Given the description of an element on the screen output the (x, y) to click on. 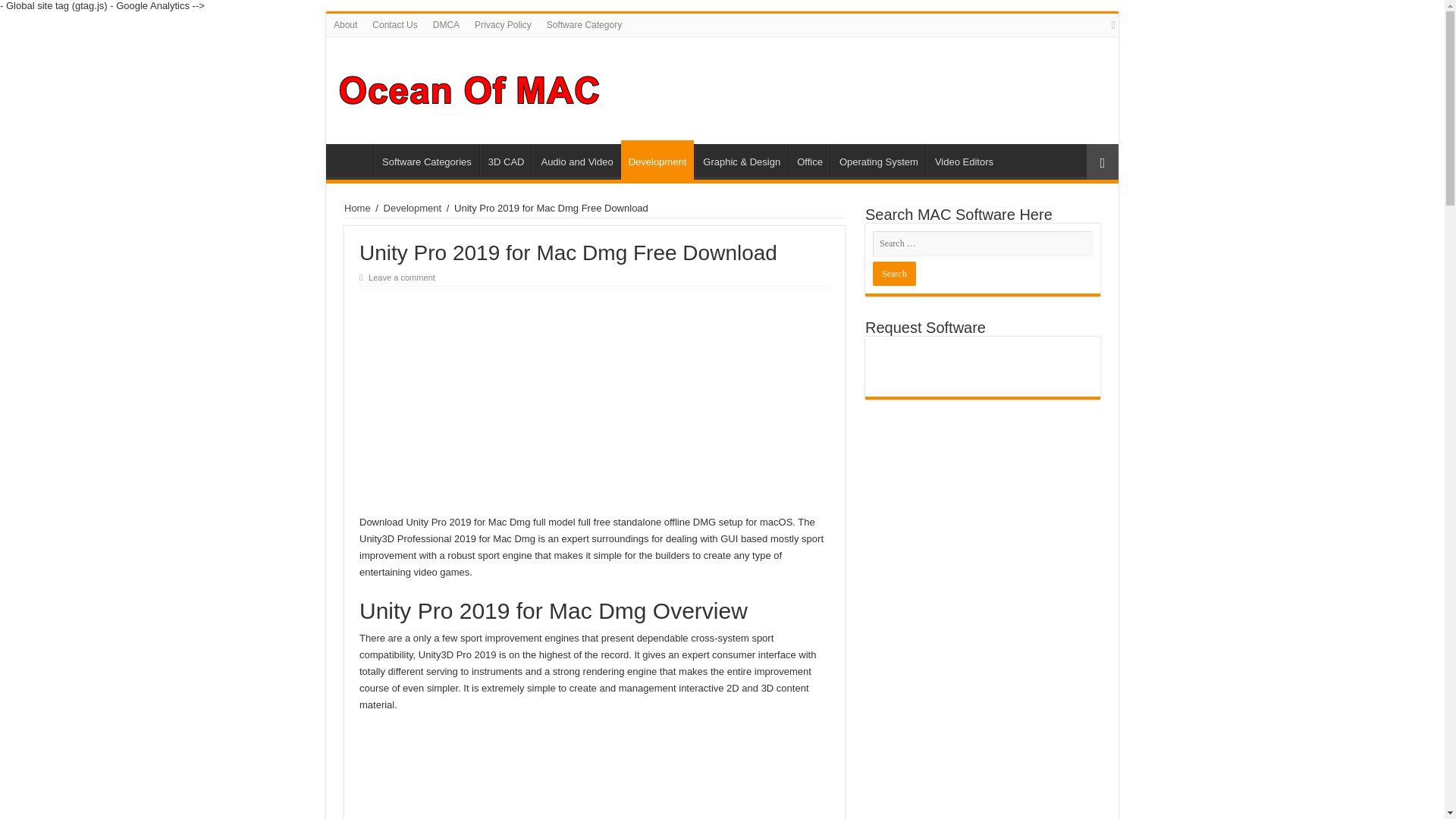
Search (893, 273)
About (345, 24)
Office (809, 160)
DMCA (446, 24)
Privacy Policy (502, 24)
Home (357, 207)
Ocean Of Mac (469, 87)
Home (352, 160)
Contact Us (395, 24)
Software Categories (426, 160)
